Given the description of an element on the screen output the (x, y) to click on. 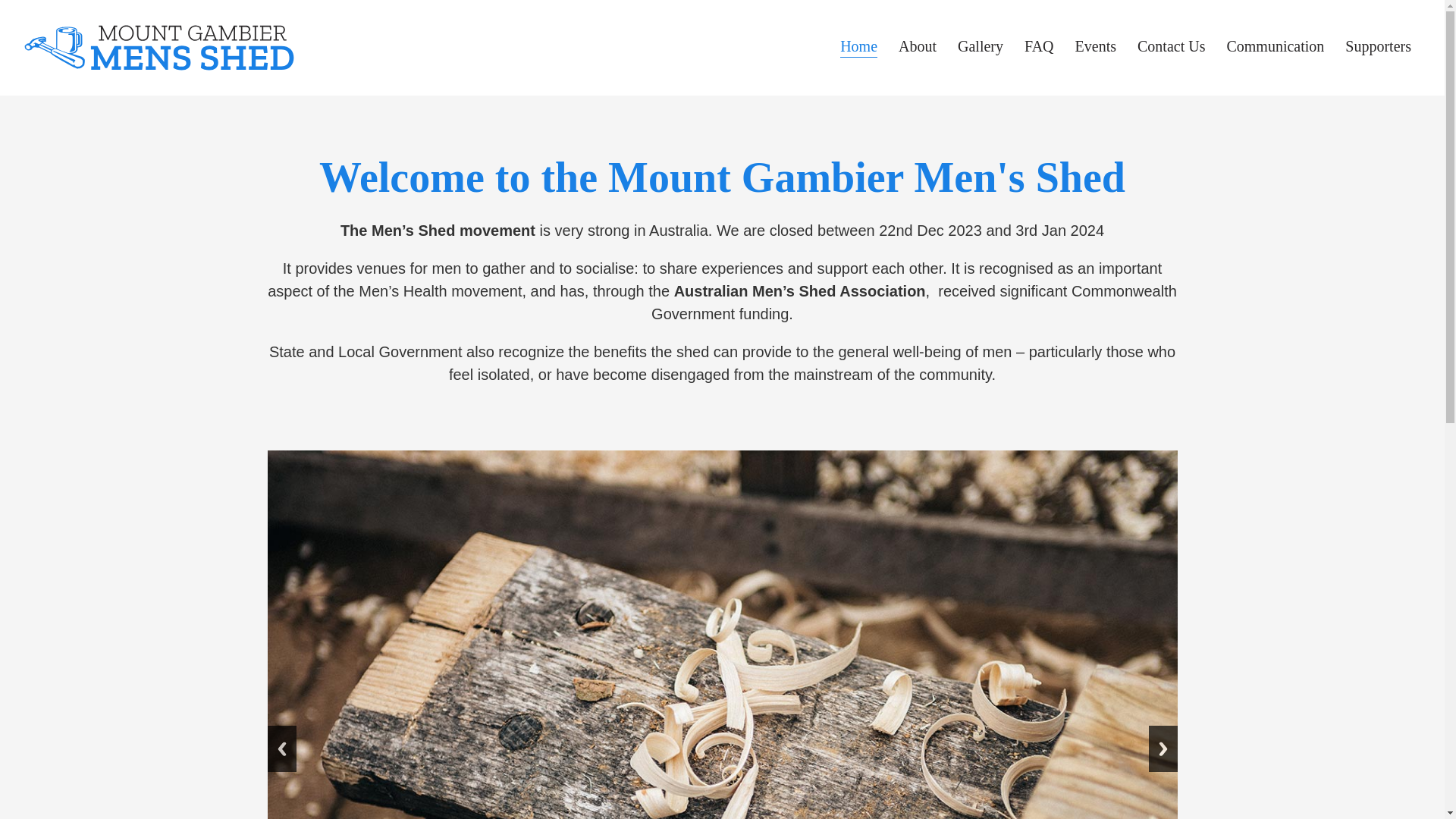
Events (1095, 48)
Mount Gambier Men's Shed (159, 47)
About (917, 48)
FAQ (1039, 48)
Home (858, 48)
Communication (1274, 48)
Contact Us (1171, 48)
Gallery (980, 48)
Supporters (1377, 48)
